Given the description of an element on the screen output the (x, y) to click on. 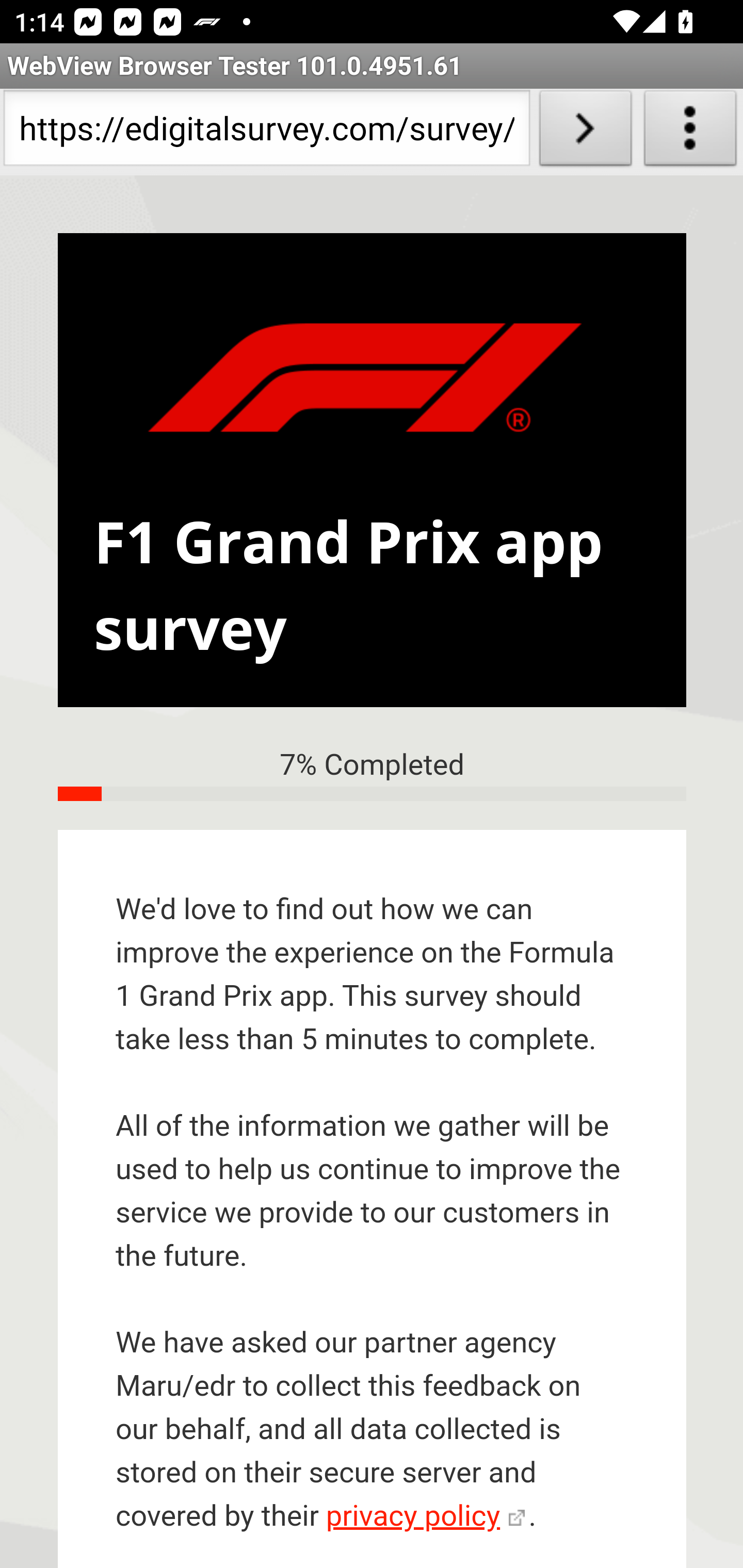
Load URL (585, 132)
About WebView (690, 132)
privacy policy  privacy policy    (425, 1517)
